Given the description of an element on the screen output the (x, y) to click on. 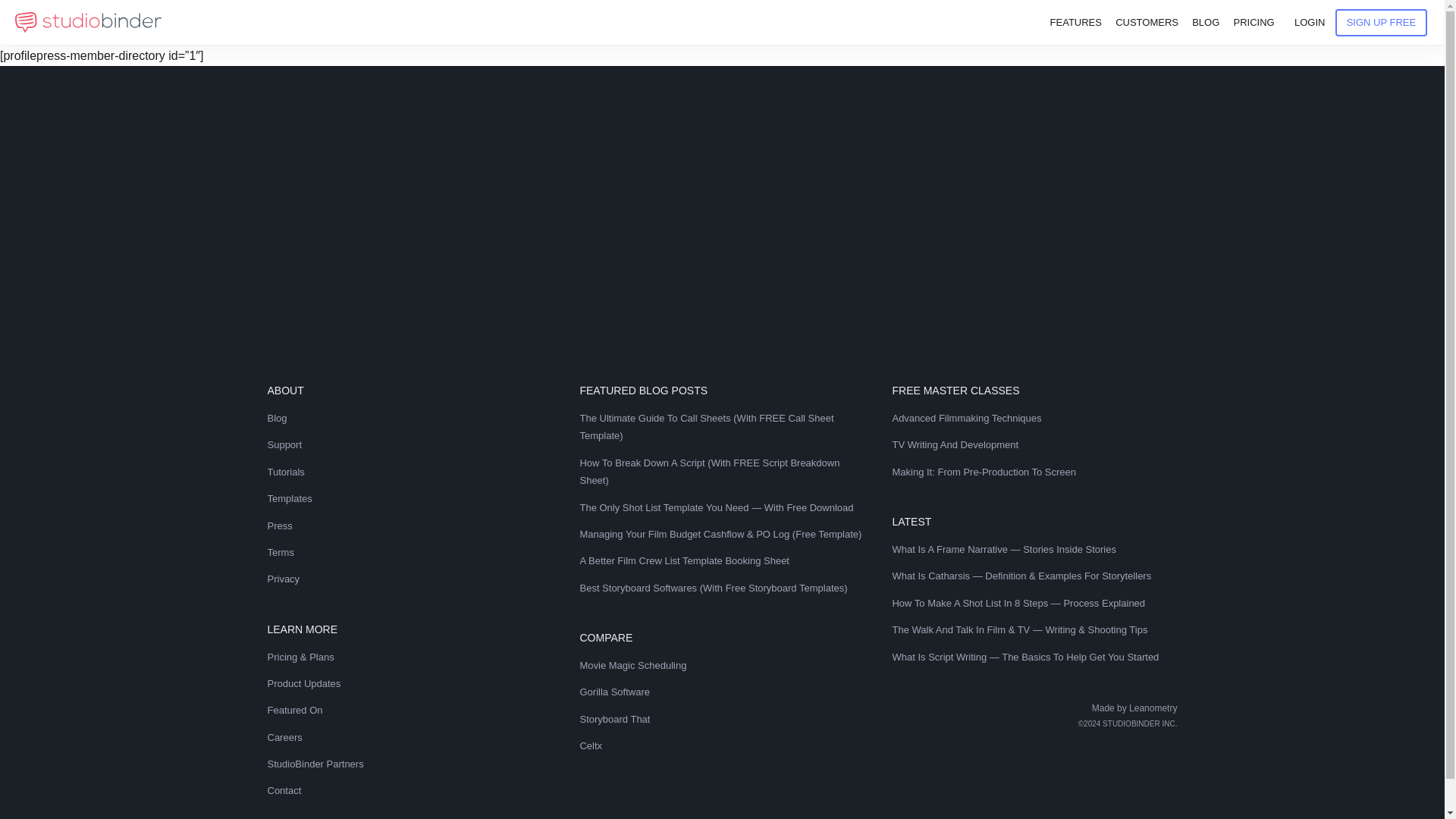
LOGIN (1309, 22)
Tutorials (408, 471)
Blog (408, 417)
CUSTOMERS (1146, 22)
Blog (1206, 22)
Support (408, 444)
FEATURES (1075, 22)
PRICING (1253, 22)
Templates (408, 498)
SIGN UP FREE (1381, 22)
BLOG (1206, 22)
Press (408, 525)
